Given the description of an element on the screen output the (x, y) to click on. 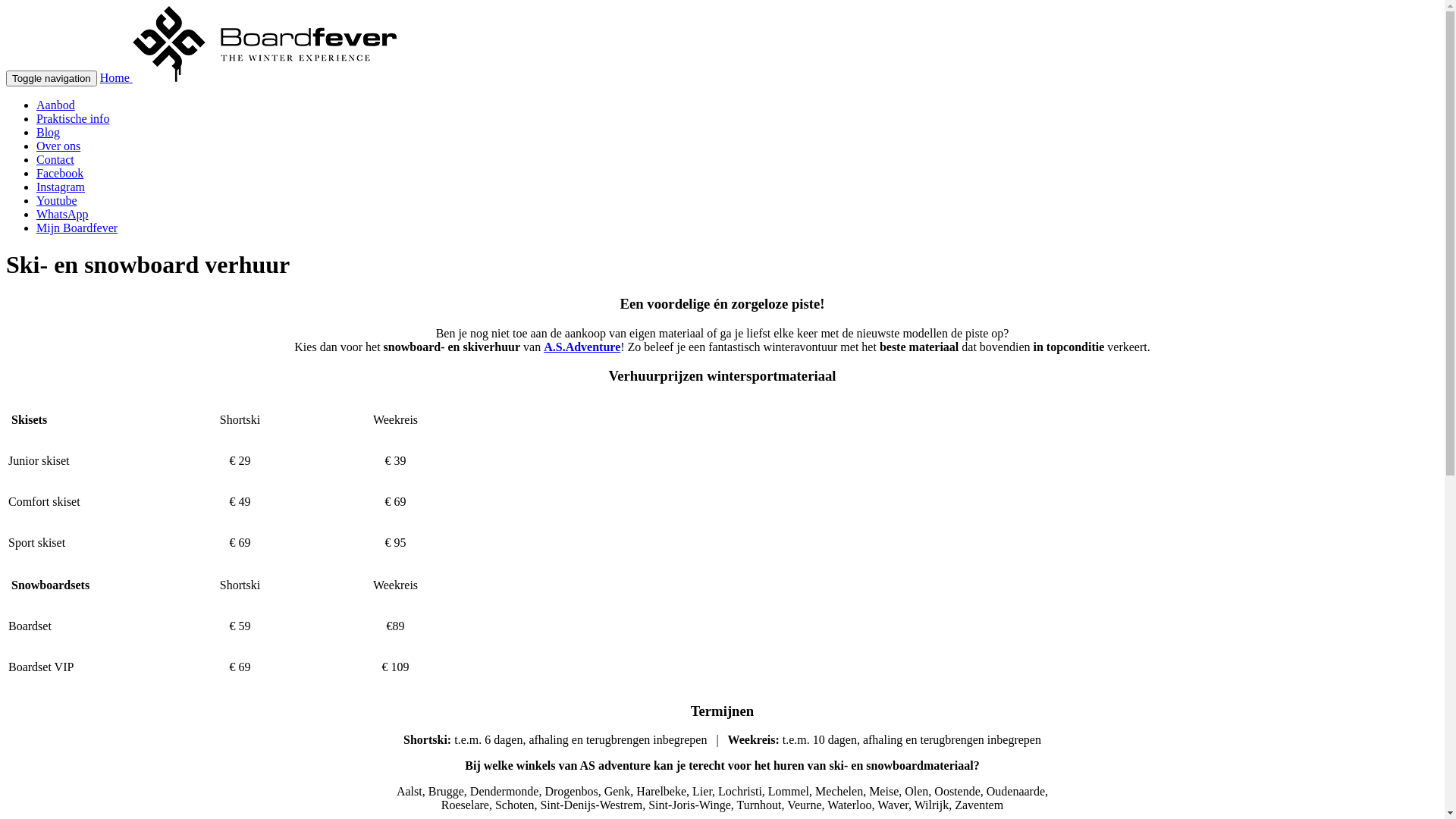
Contact Element type: text (55, 159)
Over ons Element type: text (58, 145)
Facebook Element type: text (59, 172)
Praktische info Element type: text (72, 118)
WhatsApp Element type: text (61, 213)
Mijn Boardfever Element type: text (76, 227)
Blog Element type: text (47, 131)
Toggle navigation Element type: text (51, 78)
Youtube Element type: text (56, 200)
Home Element type: text (248, 77)
Instagram Element type: text (60, 186)
A.S.Adventure Element type: text (581, 346)
Aanbod Element type: text (55, 104)
